Given the description of an element on the screen output the (x, y) to click on. 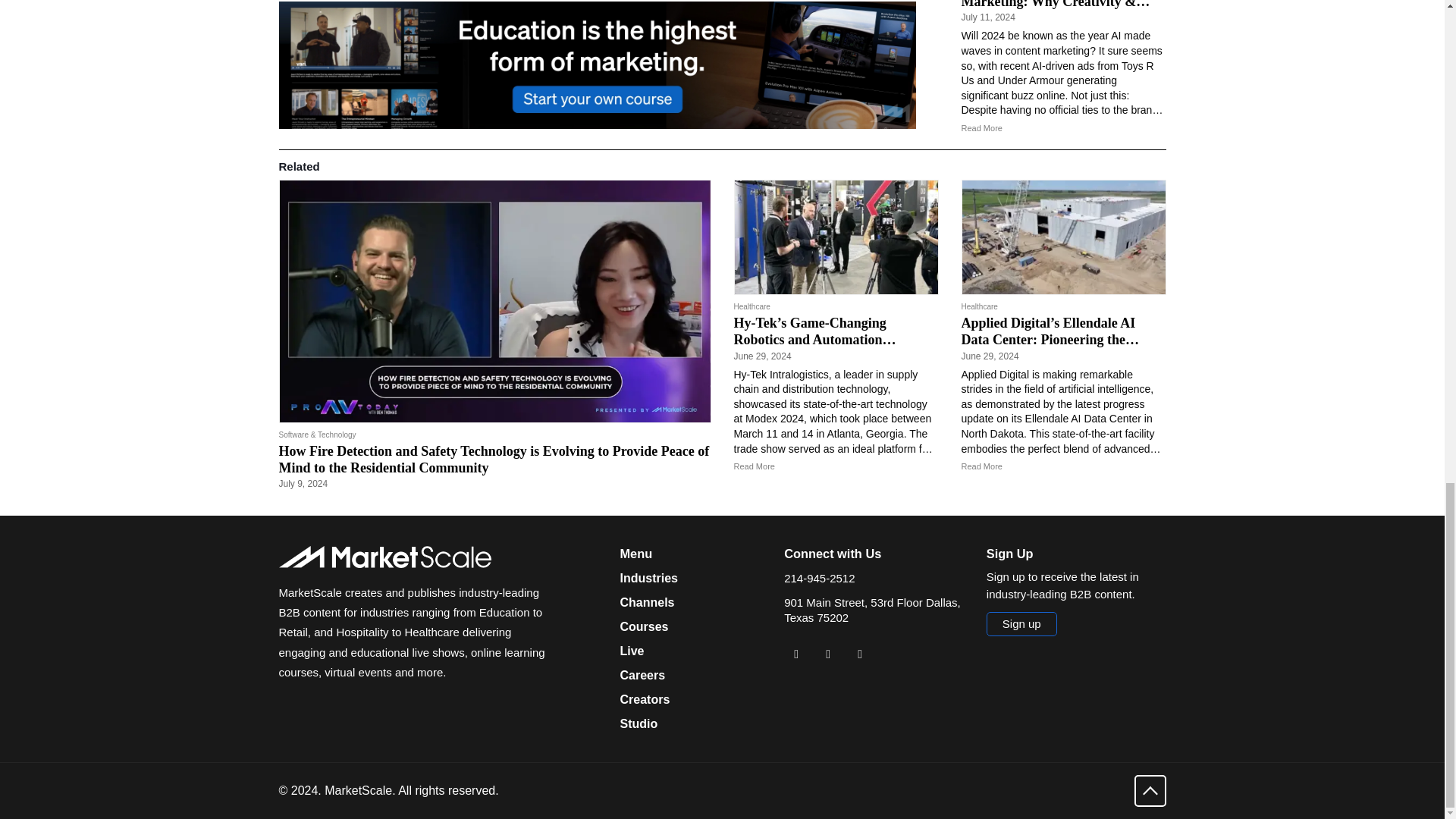
Share on Linkedin (796, 654)
Share on Instagram (859, 654)
Share on X (827, 654)
